Given the description of an element on the screen output the (x, y) to click on. 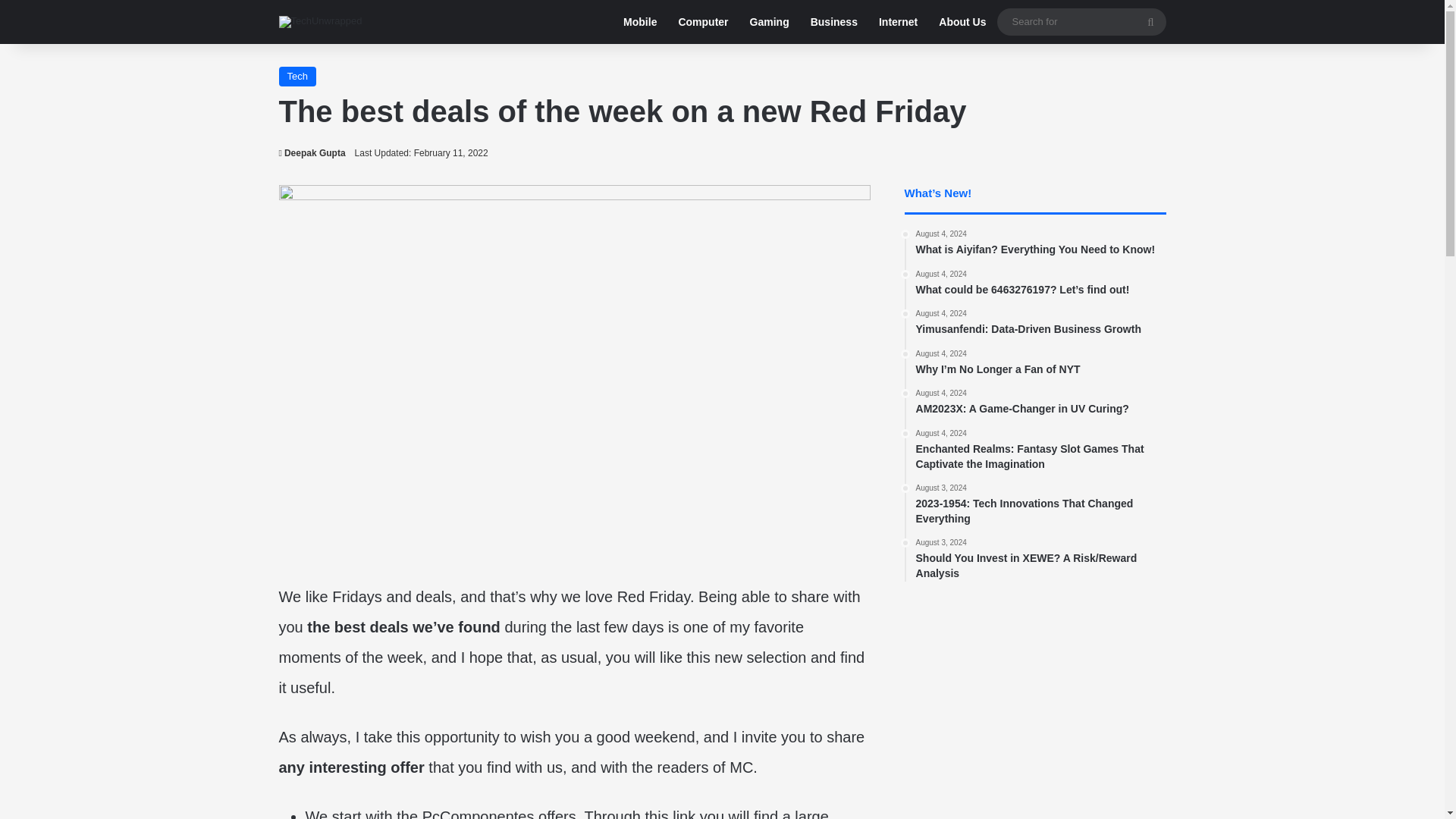
Deepak Gupta (1040, 323)
About Us (312, 153)
Mobile (961, 22)
Computer (639, 22)
Gaming (702, 22)
Tech (769, 22)
